Given the description of an element on the screen output the (x, y) to click on. 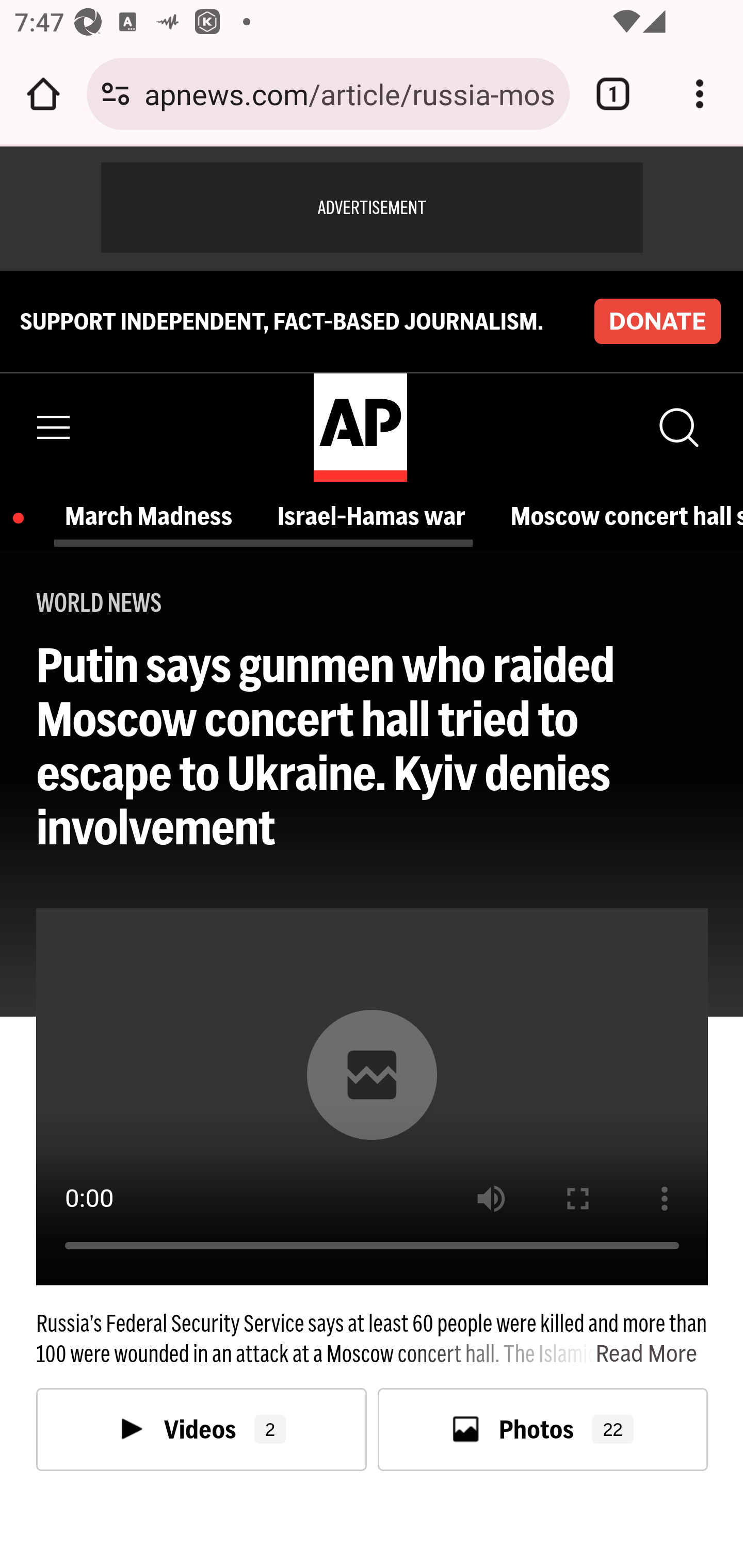
Open the home page (43, 93)
Connection is secure (115, 93)
Switch or close tabs (612, 93)
Customize and control Google Chrome (699, 93)
DONATE (657, 320)
home page AP Logo (359, 426)
Menu (54, 427)
Show Search (677, 427)
March Madness (160, 515)
Israel-Hamas war (396, 515)
Moscow concert hall shooting (639, 515)
WORLD NEWS (99, 602)
play (372, 1074)
mute (491, 1199)
enter full screen (578, 1199)
show more media controls (665, 1199)
elapsed time: 0:00, video time scrubber (372, 1264)
Read More (545, 1353)
Videos 2 (202, 1429)
Photos 22 (542, 1429)
